Given the description of an element on the screen output the (x, y) to click on. 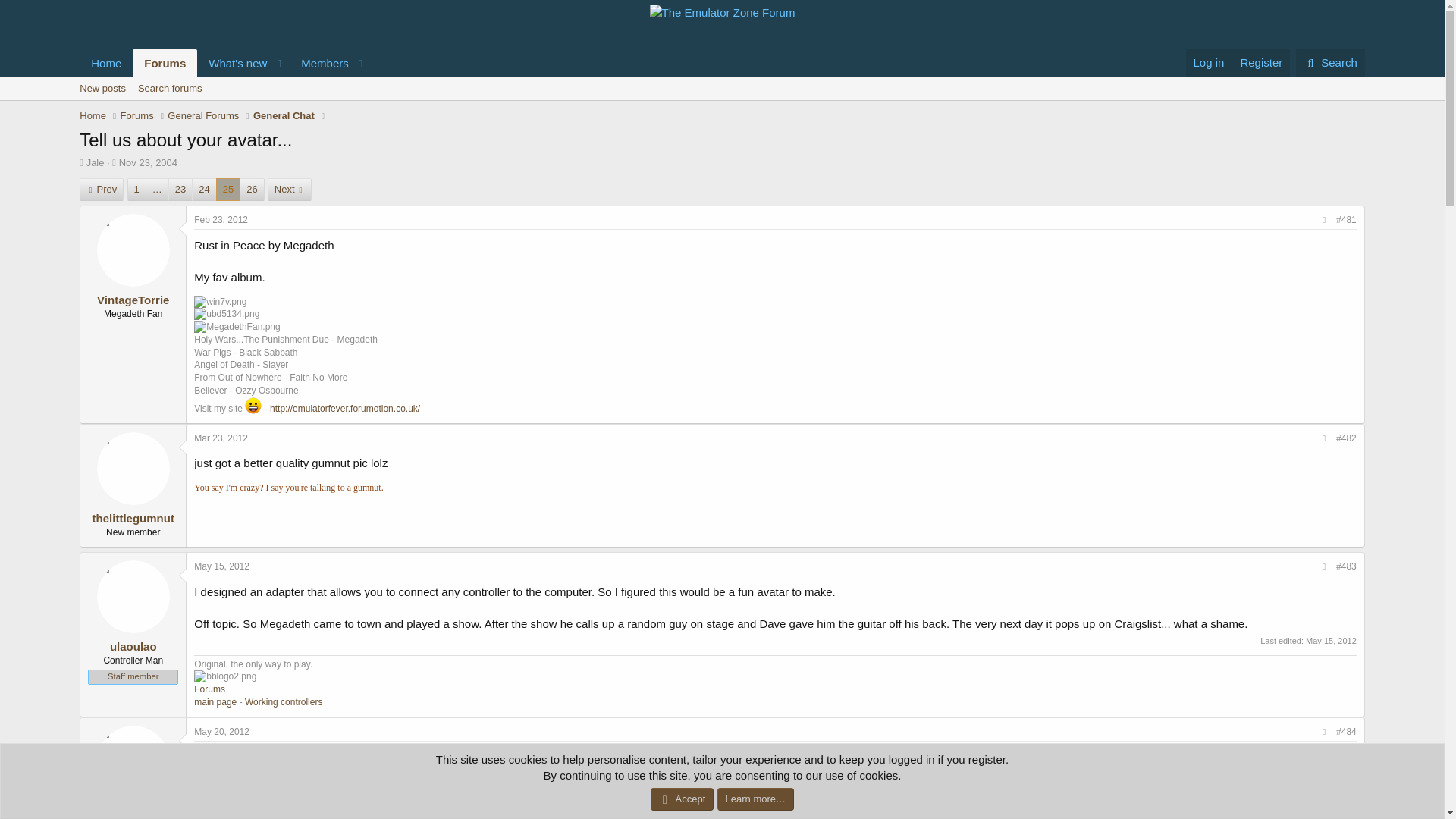
Forums (137, 115)
Big grin    :D (253, 405)
win7v.png (219, 301)
General Forums (722, 105)
Nov 23, 2004 at 6:10 PM (202, 115)
Mar 23, 2012 at 9:24 AM (148, 162)
Search (220, 438)
Log in (224, 62)
Home (1330, 62)
Nov 23, 2004 (1208, 62)
Home (93, 115)
What's new (148, 162)
Prev (106, 62)
